Given the description of an element on the screen output the (x, y) to click on. 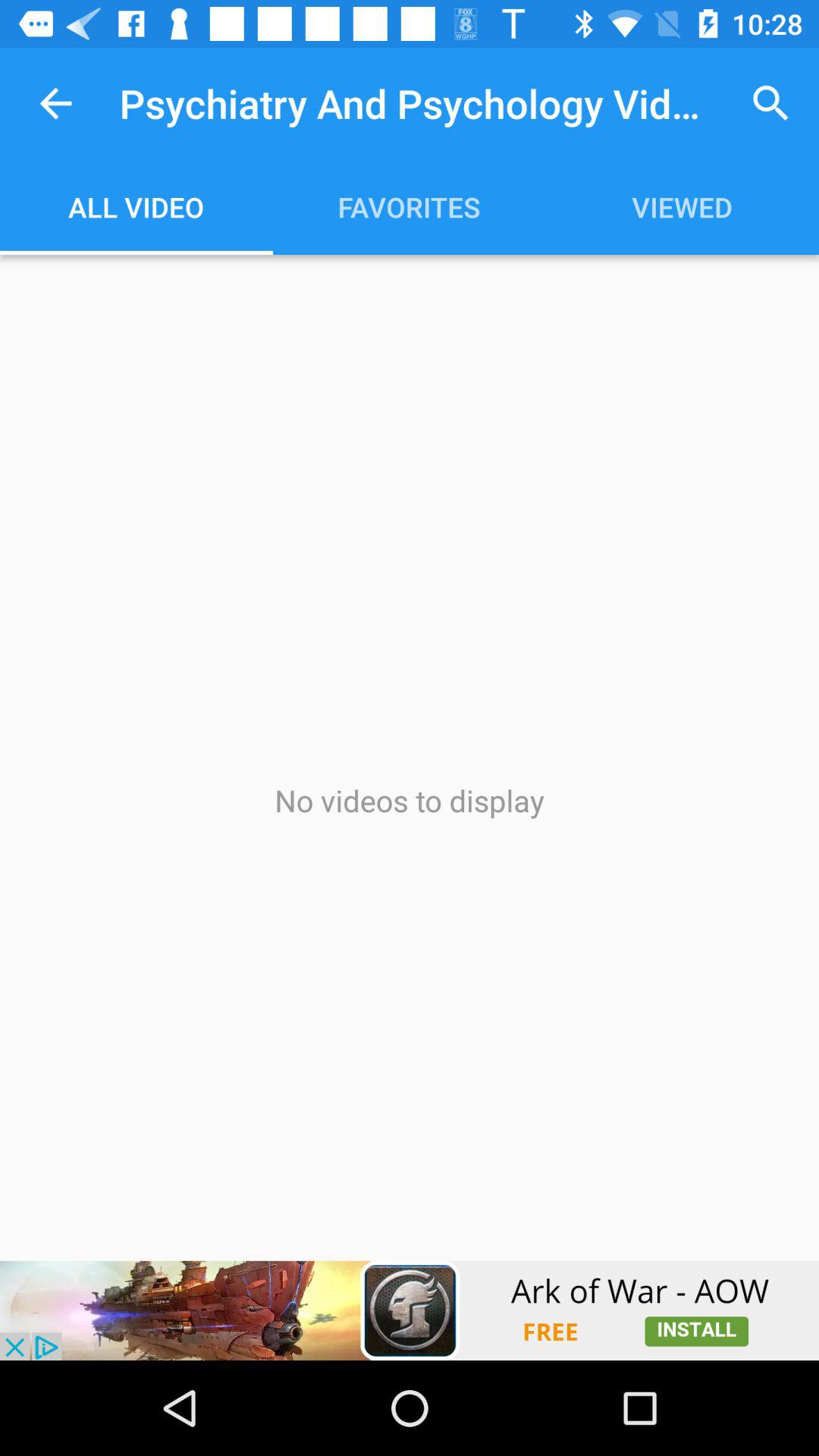
advertisement image (409, 1310)
